Given the description of an element on the screen output the (x, y) to click on. 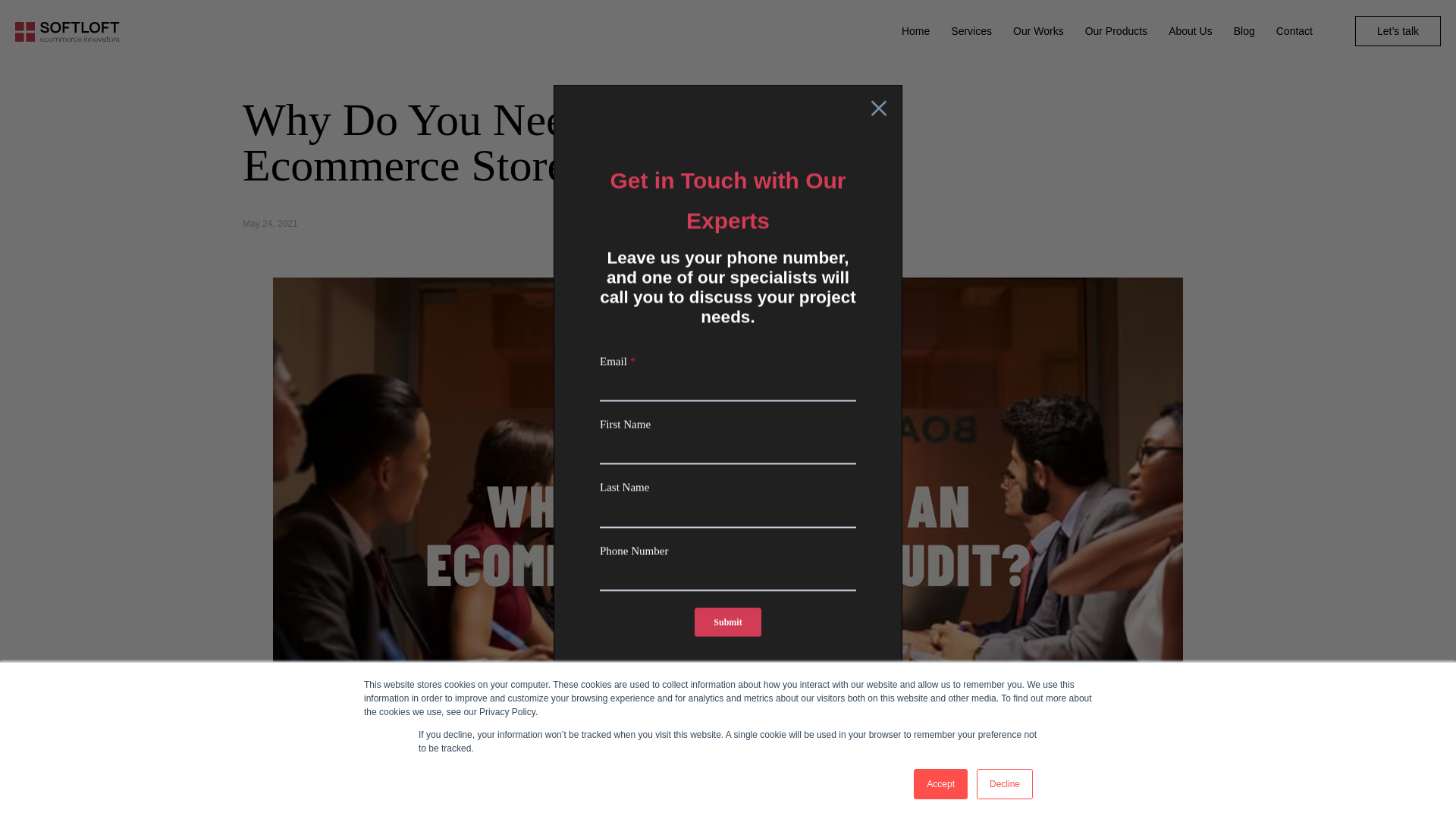
Accept (941, 784)
Our Products (1115, 30)
Services (970, 30)
Decline (1004, 784)
Our Works (1038, 30)
About Us (1190, 30)
Home (915, 30)
